Given the description of an element on the screen output the (x, y) to click on. 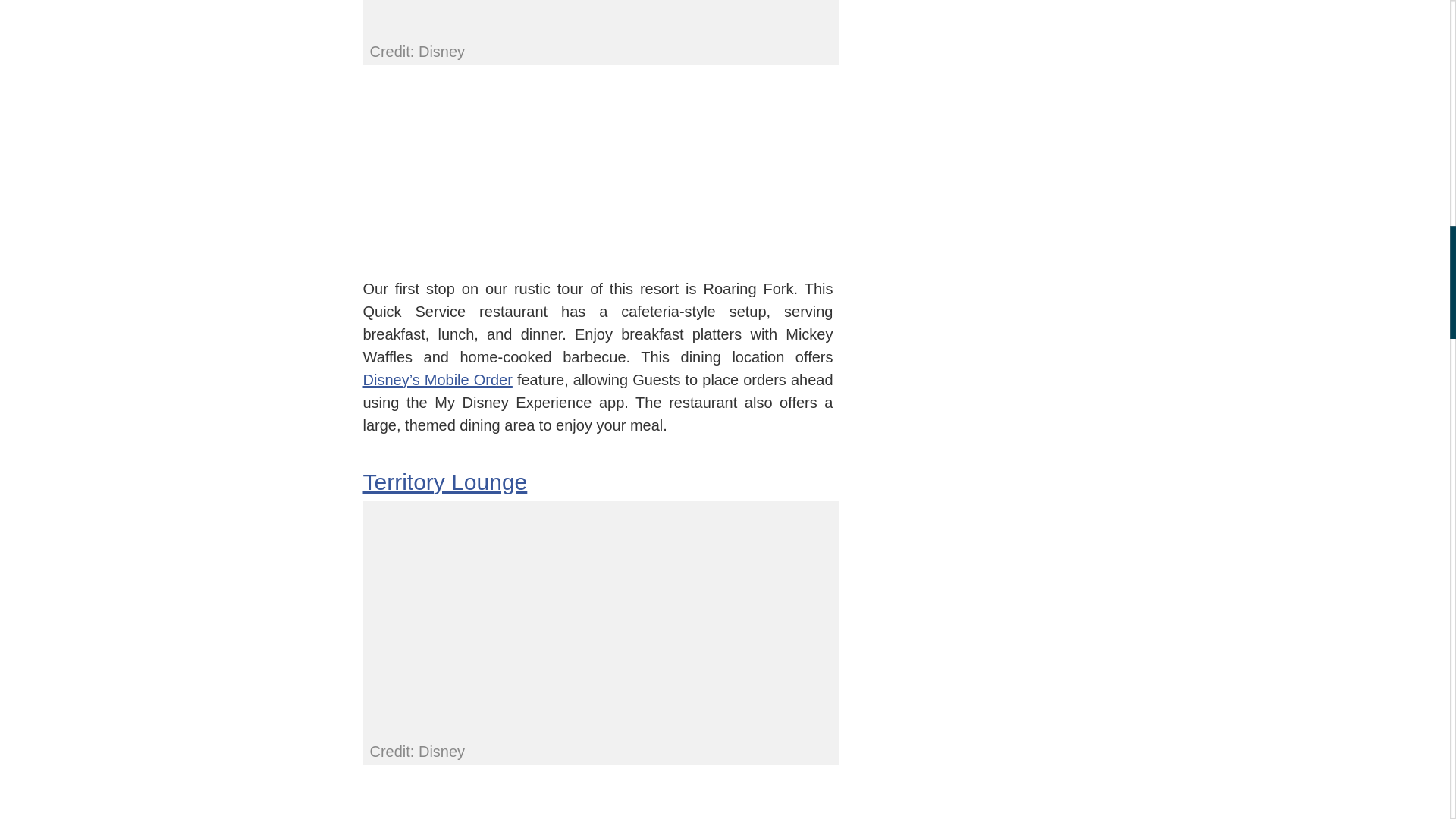
Territory Lounge (444, 480)
